Given the description of an element on the screen output the (x, y) to click on. 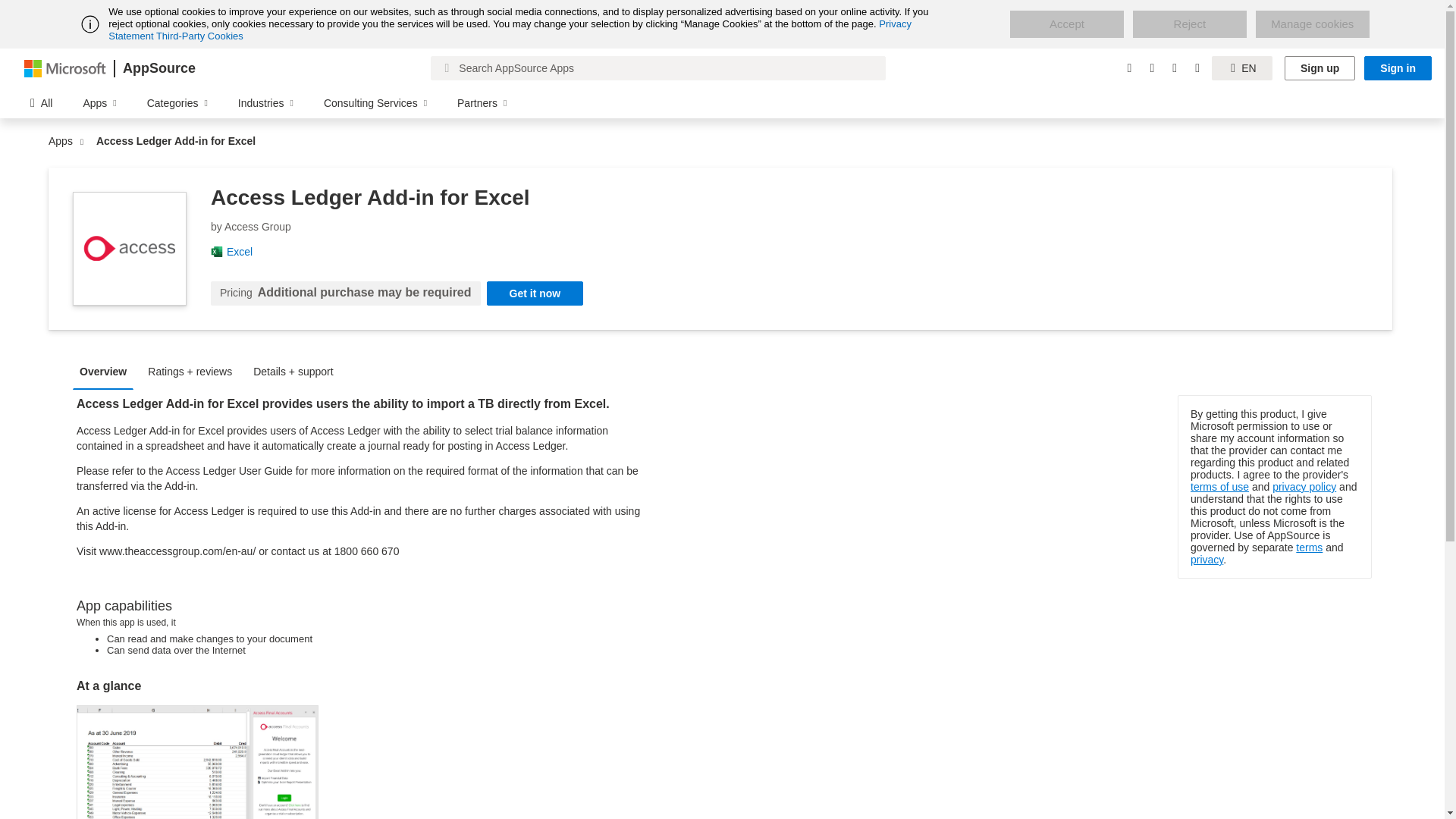
Sign up (1319, 68)
privacy (1207, 559)
AppSource (158, 67)
Microsoft (65, 67)
Reject (1189, 23)
Third-Party Cookies (199, 35)
Apps (64, 141)
terms (1308, 547)
Overview (106, 370)
Get it now (534, 293)
